Given the description of an element on the screen output the (x, y) to click on. 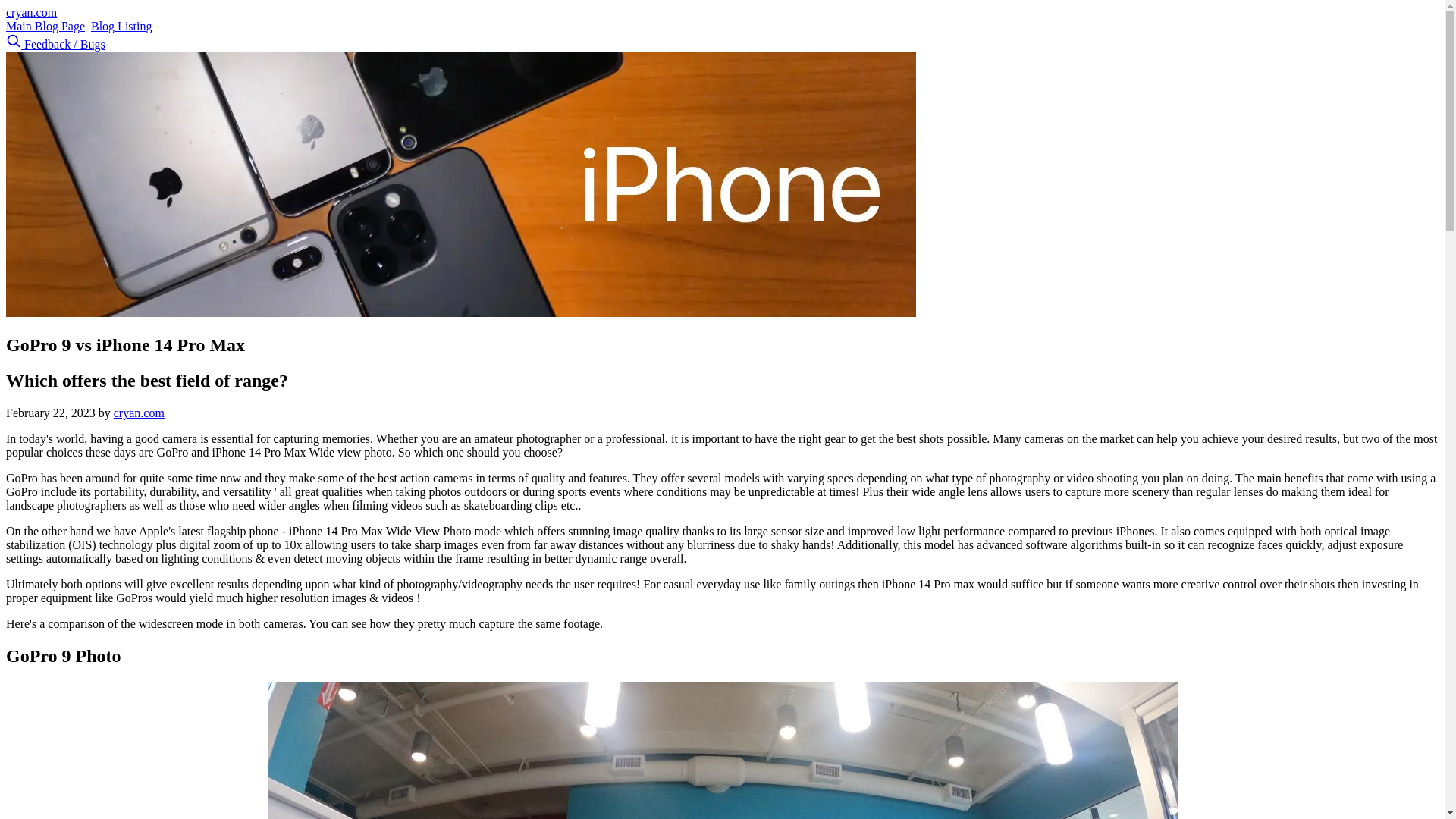
Blog Listing (120, 25)
cryan.com (138, 412)
Search (14, 43)
Search (13, 40)
cryan.com (30, 11)
Main Blog Page (44, 25)
